Given the description of an element on the screen output the (x, y) to click on. 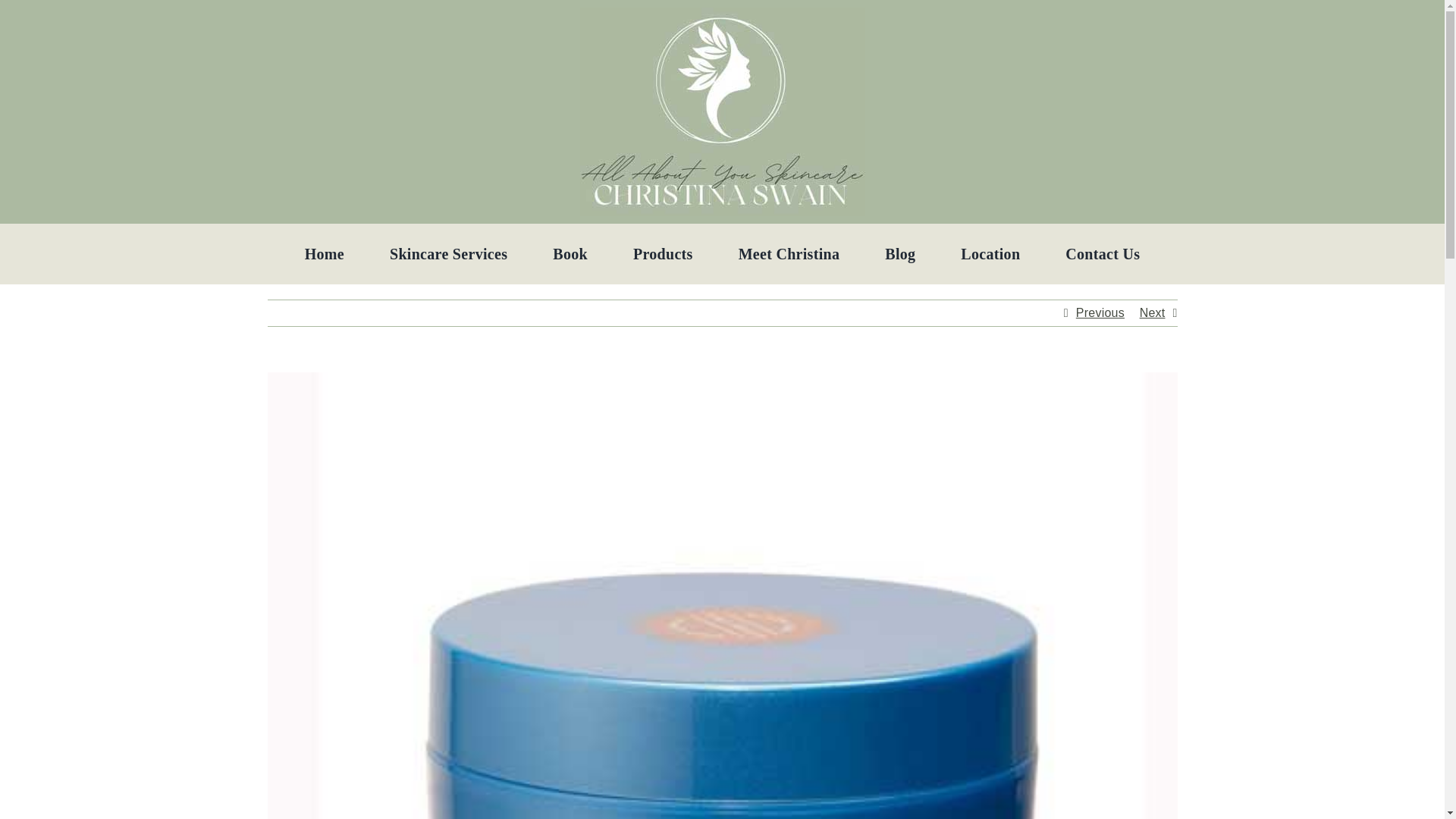
Products (663, 253)
Location (990, 253)
Skincare Services (448, 253)
Meet Christina (789, 253)
Book (570, 253)
Previous (1099, 312)
Contact Us (1102, 253)
Next (1153, 312)
Blog (900, 253)
